Given the description of an element on the screen output the (x, y) to click on. 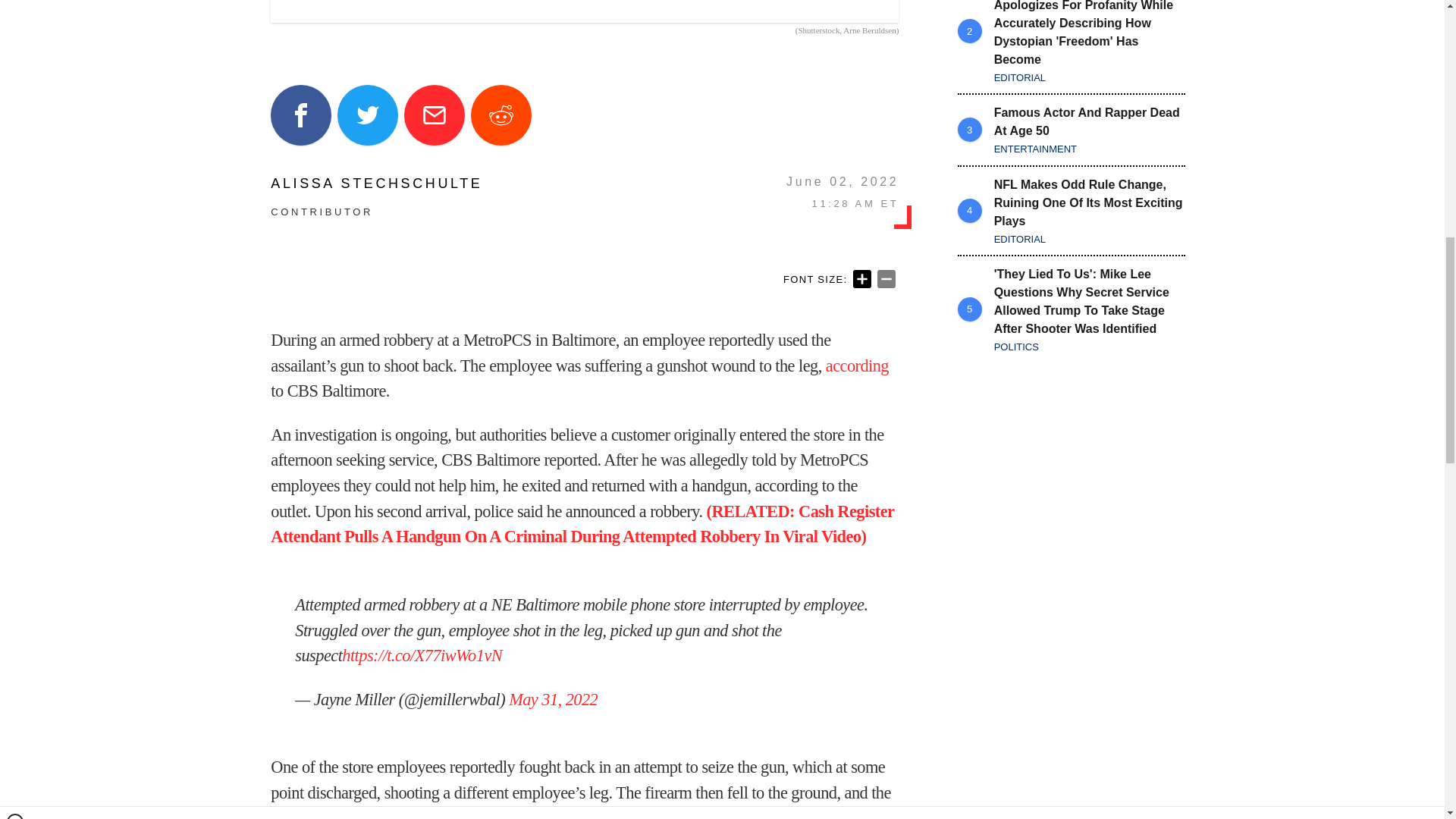
according (856, 365)
ALISSA STECHSCHULTE (375, 183)
Close window (14, 6)
View More Articles By Alissa Stechschulte (375, 183)
